Given the description of an element on the screen output the (x, y) to click on. 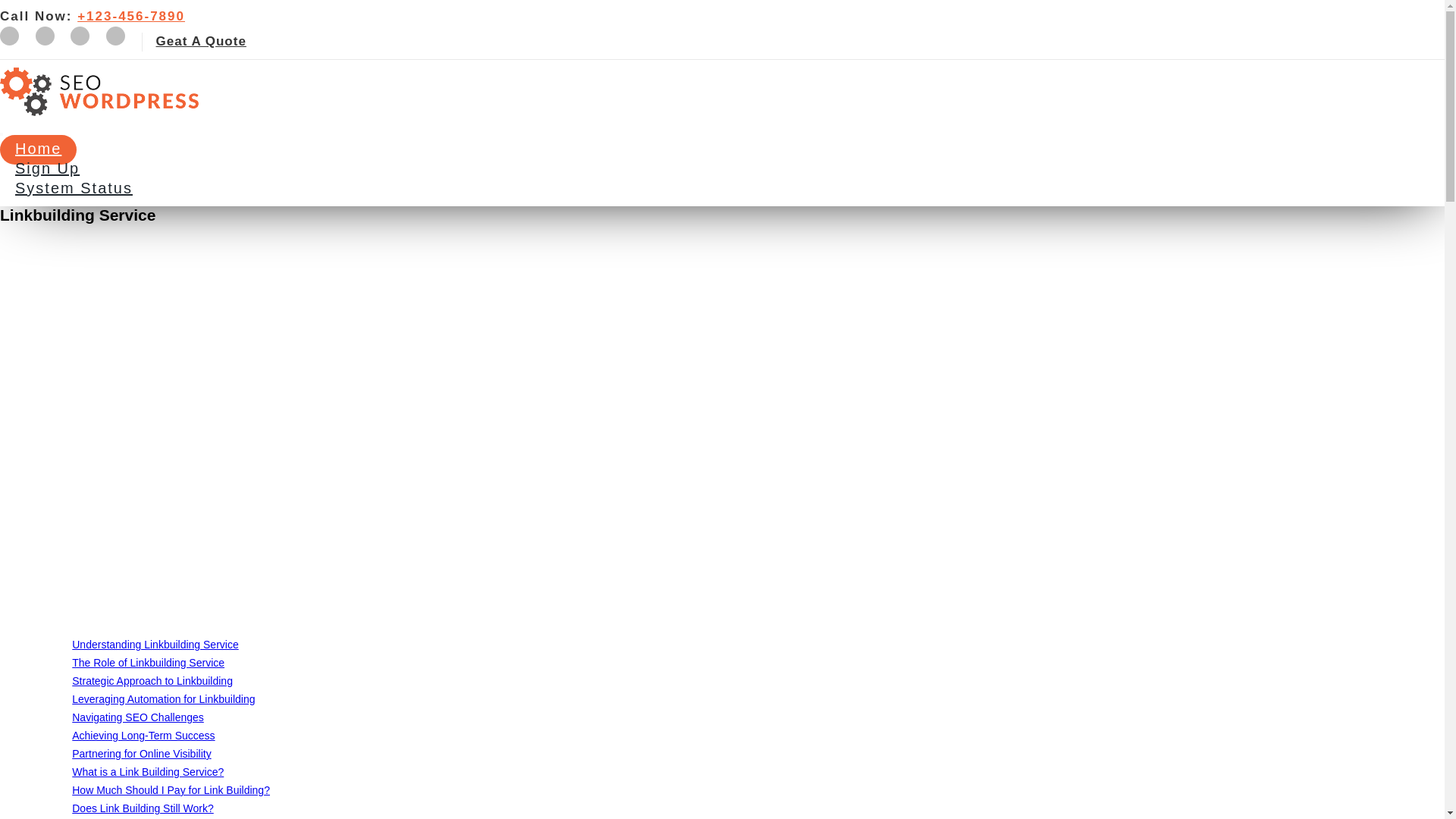
Navigating SEO Challenges (137, 717)
Achieving Long-Term Success (142, 735)
Home (38, 149)
The Role of Linkbuilding Service (147, 662)
What is a Link Building Service? (147, 771)
Does Link Building Still Work? (142, 808)
How Much Should I Pay for Link Building? (170, 789)
Geat A Quote (200, 41)
Strategic Approach to Linkbuilding (151, 680)
Understanding Linkbuilding Service (154, 644)
System Status (74, 188)
Leveraging Automation for Linkbuilding (162, 698)
Sign Up (47, 169)
Partnering for Online Visibility (141, 753)
